Given the description of an element on the screen output the (x, y) to click on. 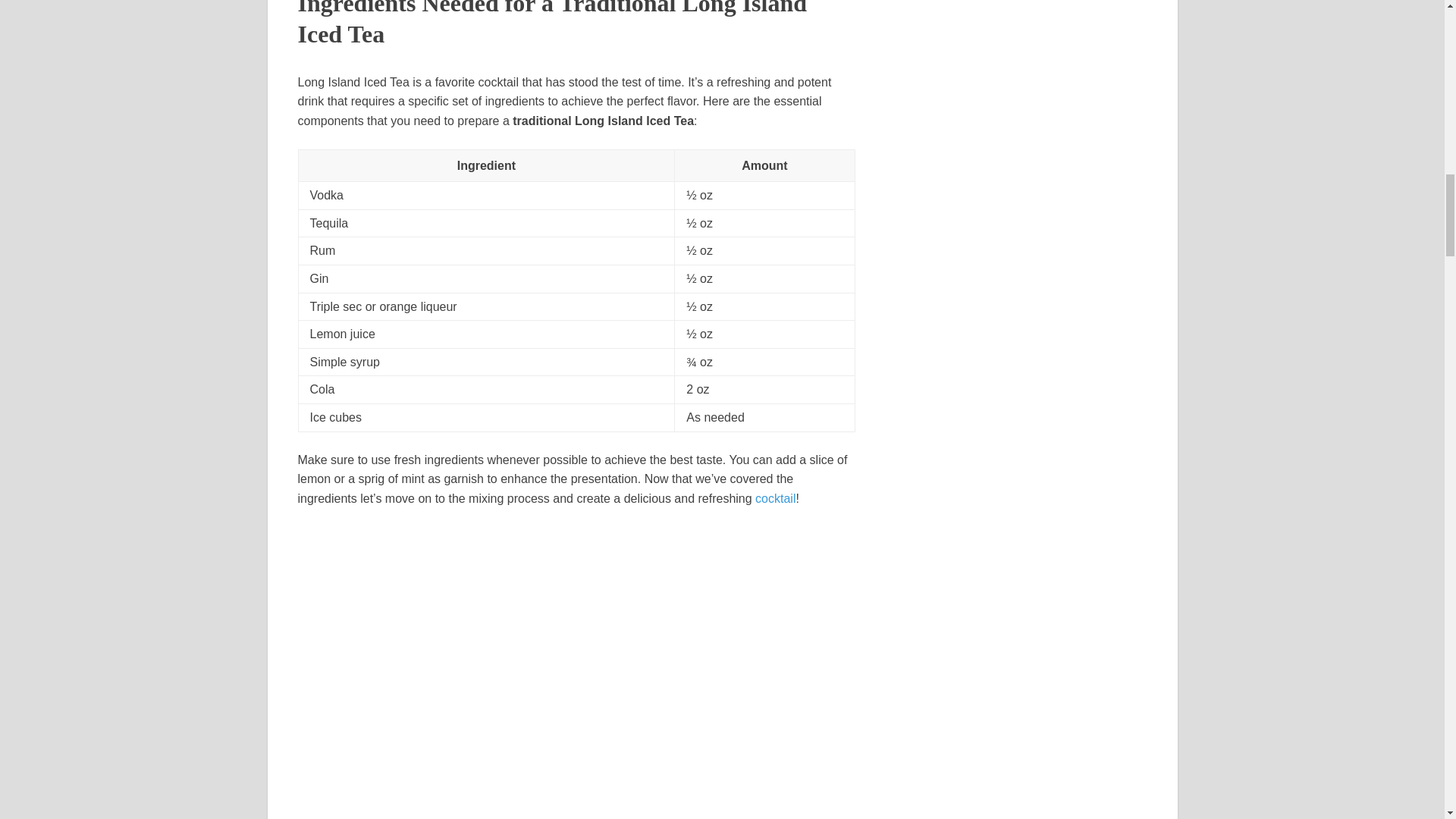
cocktail (774, 498)
